Given the description of an element on the screen output the (x, y) to click on. 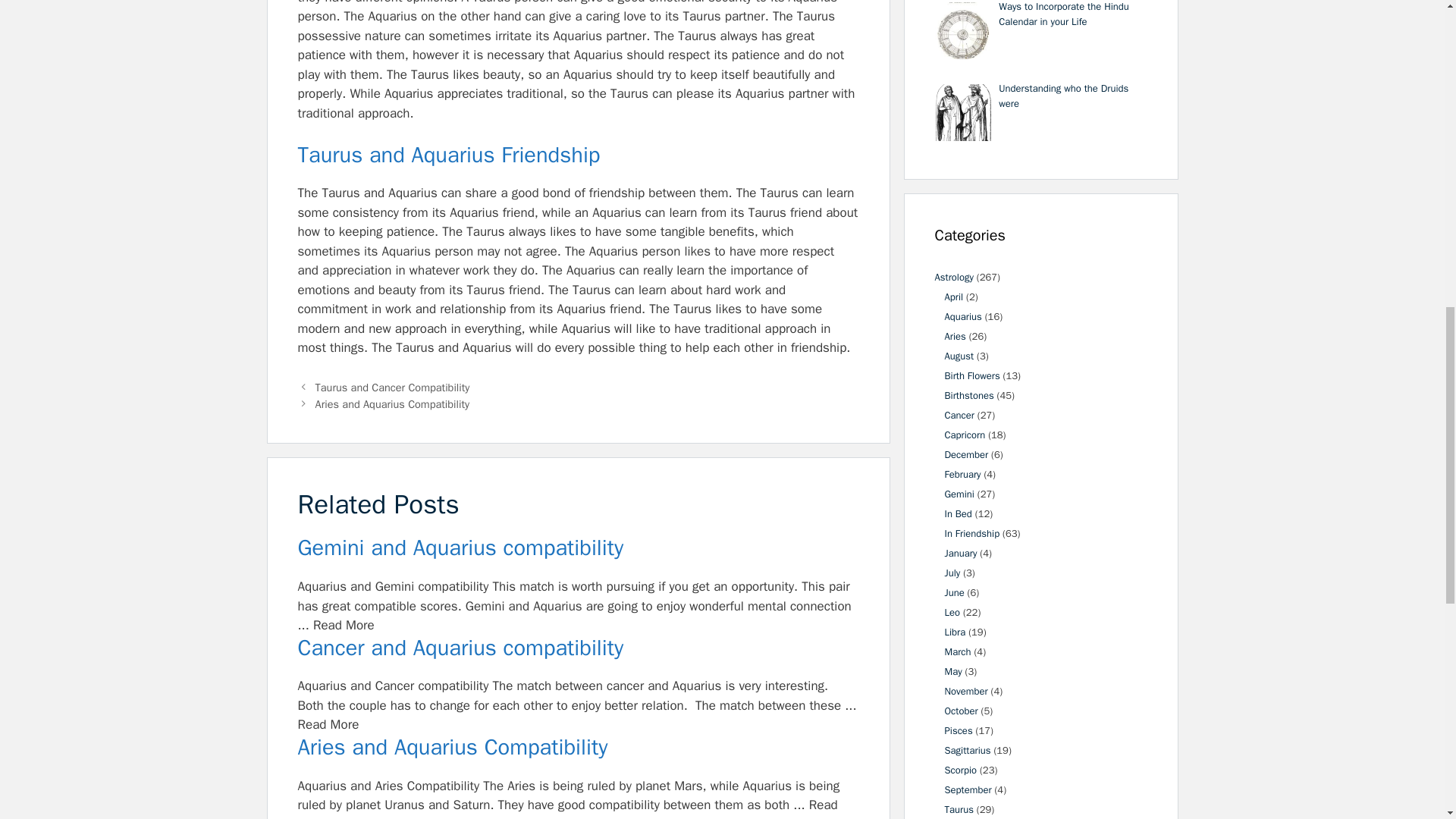
Aries and Aquarius Compatibility (578, 747)
Cancer and Aquarius compatibility (578, 648)
Gemini and Aquarius compatibility (578, 548)
